Given the description of an element on the screen output the (x, y) to click on. 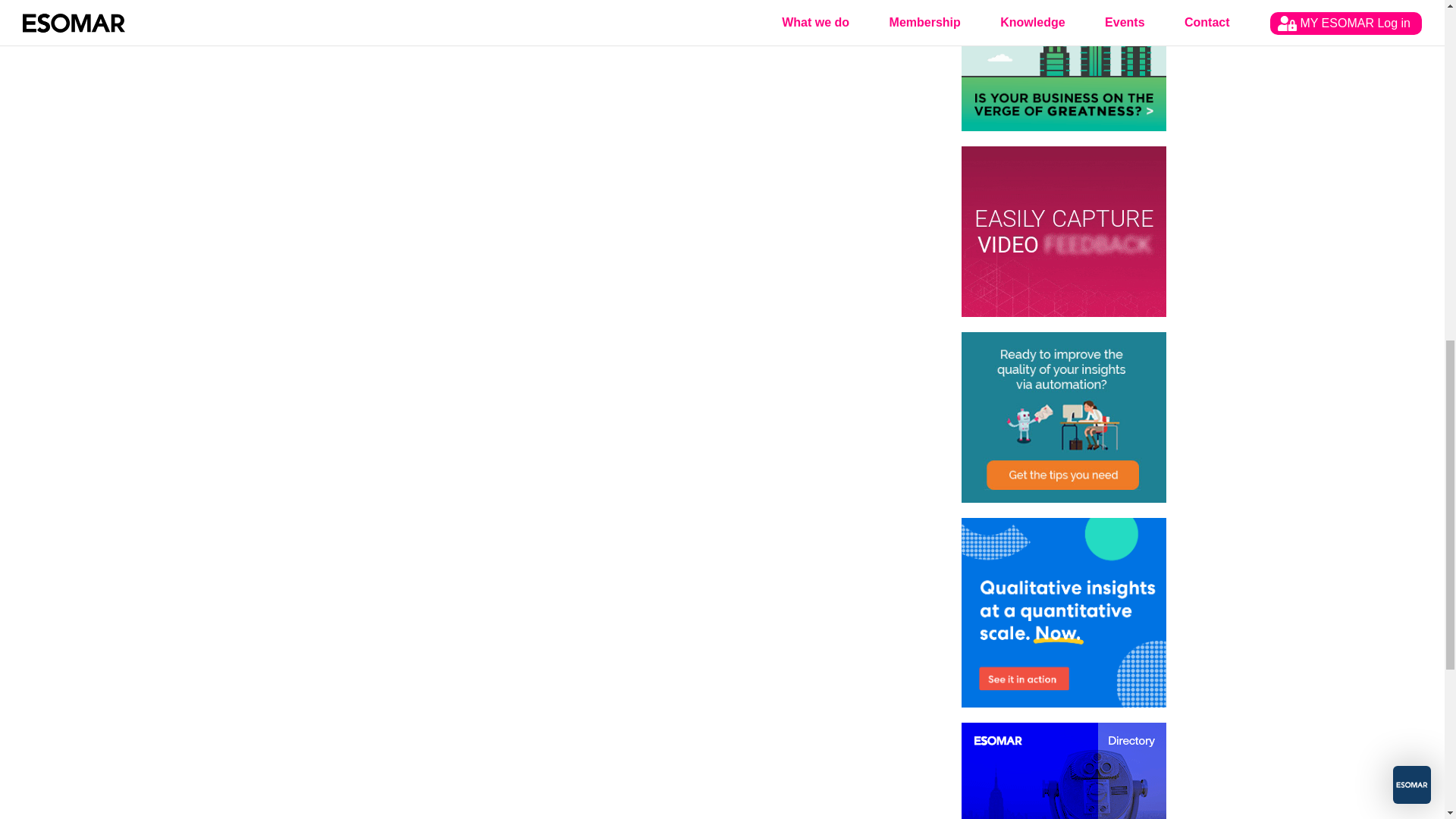
Remesh (1063, 612)
LUCK COLL (1063, 65)
VOX POP (1063, 231)
SKIM Subscription (1063, 417)
Esomar - Directory (1063, 770)
